Given the description of an element on the screen output the (x, y) to click on. 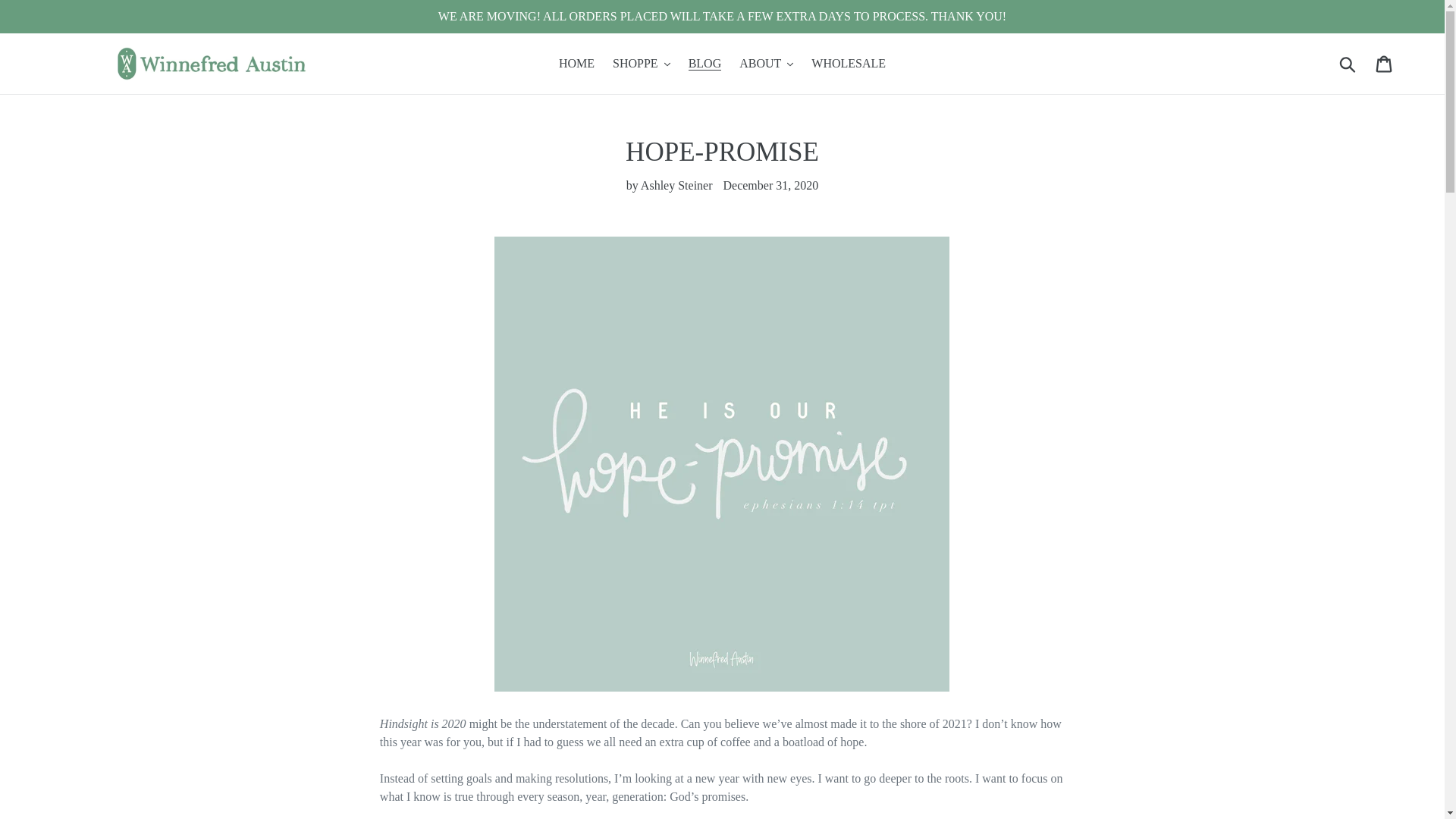
HOME (576, 63)
Submit (1348, 63)
Cart (1385, 63)
BLOG (705, 63)
WHOLESALE (848, 63)
